Given the description of an element on the screen output the (x, y) to click on. 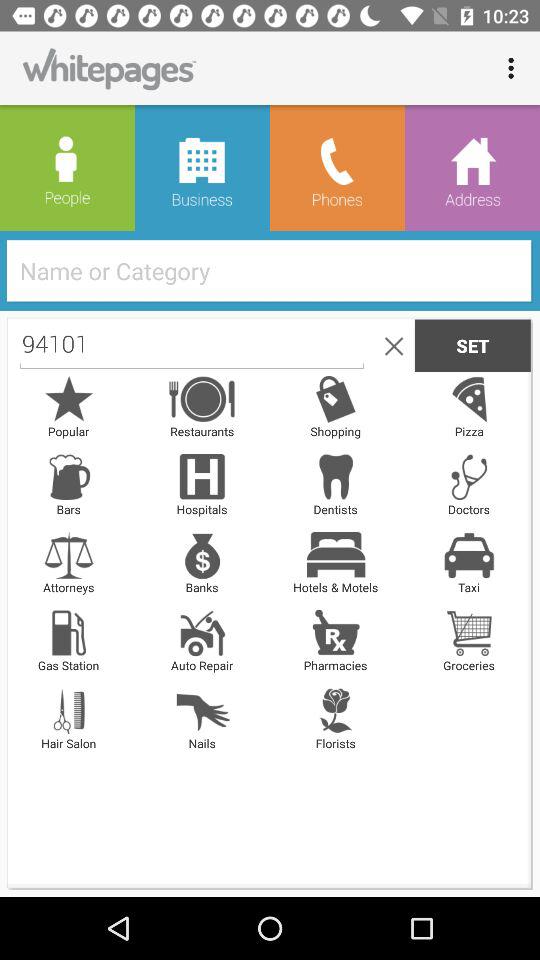
tap the item next to 94101 (390, 345)
